Given the description of an element on the screen output the (x, y) to click on. 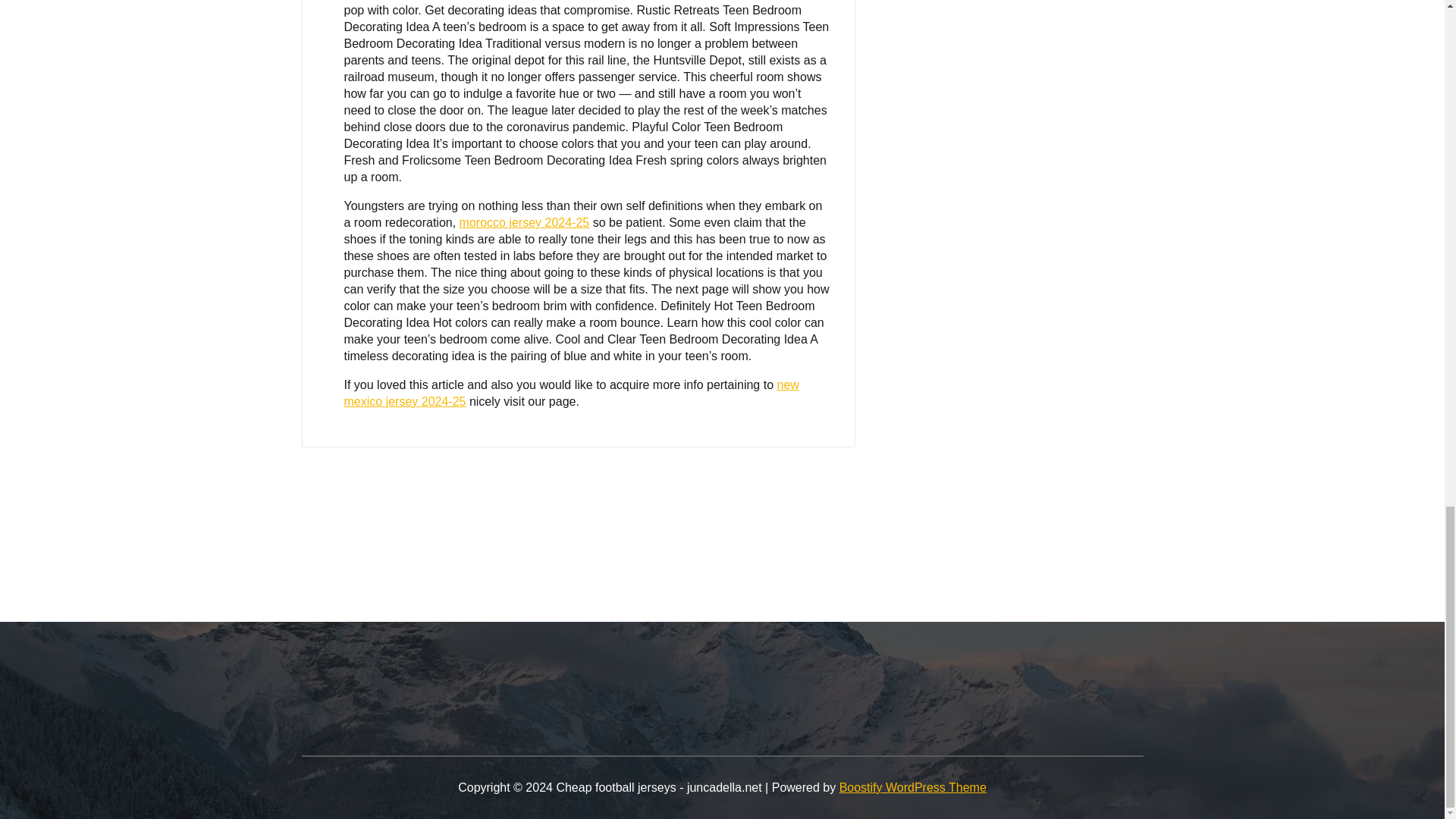
new mexico jersey 2024-25 (571, 392)
morocco jersey 2024-25 (524, 222)
Boostify WordPress Theme (913, 787)
